Given the description of an element on the screen output the (x, y) to click on. 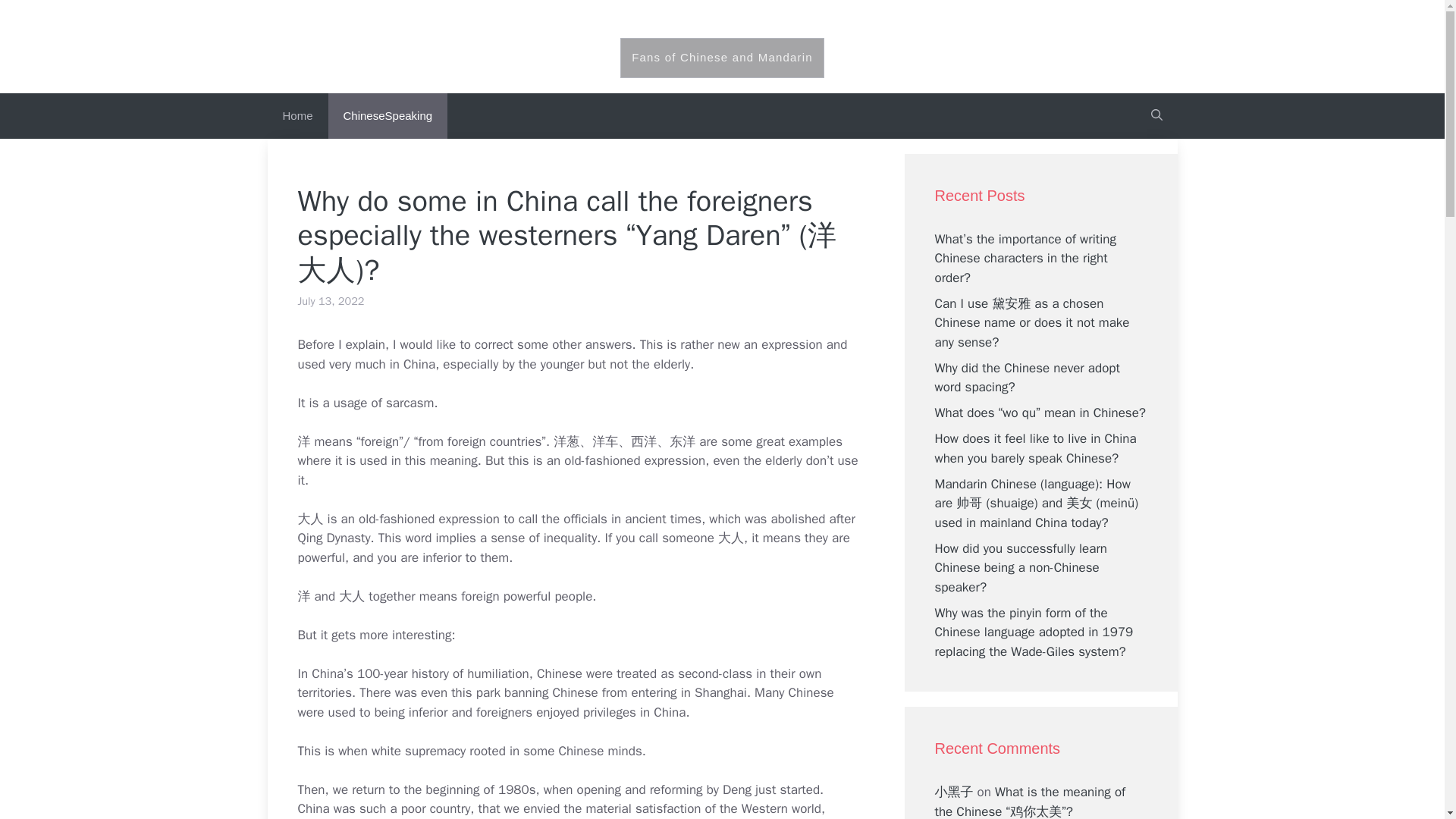
ChineseSpeaking (388, 115)
Why did the Chinese never adopt word spacing? (1026, 376)
Chinese Speaking Fans (722, 25)
Home (296, 115)
